Given the description of an element on the screen output the (x, y) to click on. 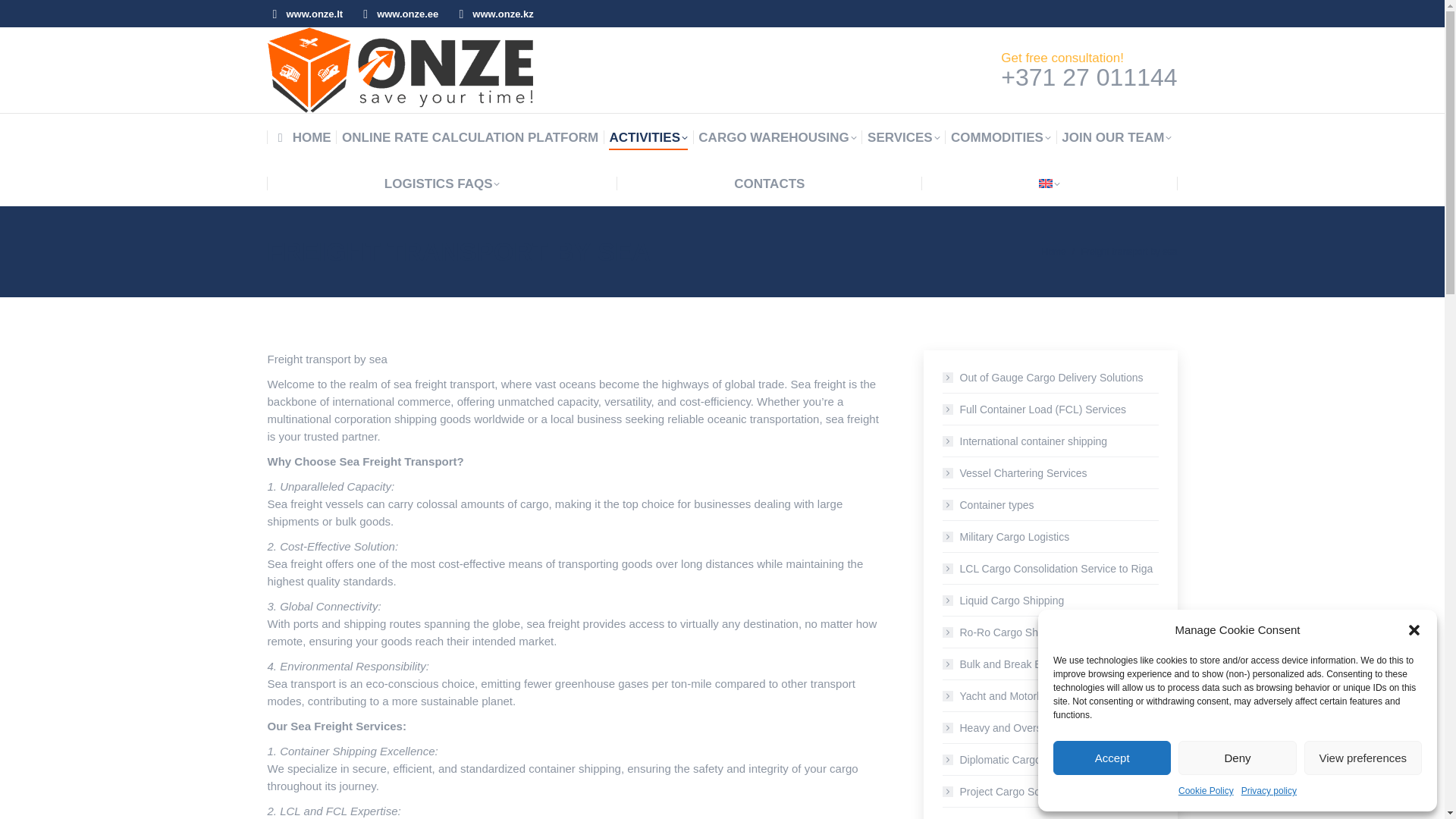
Deny (1236, 757)
www.onze.kz (492, 12)
Accept (1111, 757)
Privacy policy (1269, 791)
www.onze.lt (304, 12)
ONLINE RATE CALCULATION PLATFORM (470, 137)
Cookie Policy (1205, 791)
View preferences (1363, 757)
Home (1053, 251)
ACTIVITIES (647, 137)
HOME (302, 137)
www.onze.ee (398, 12)
